Given the description of an element on the screen output the (x, y) to click on. 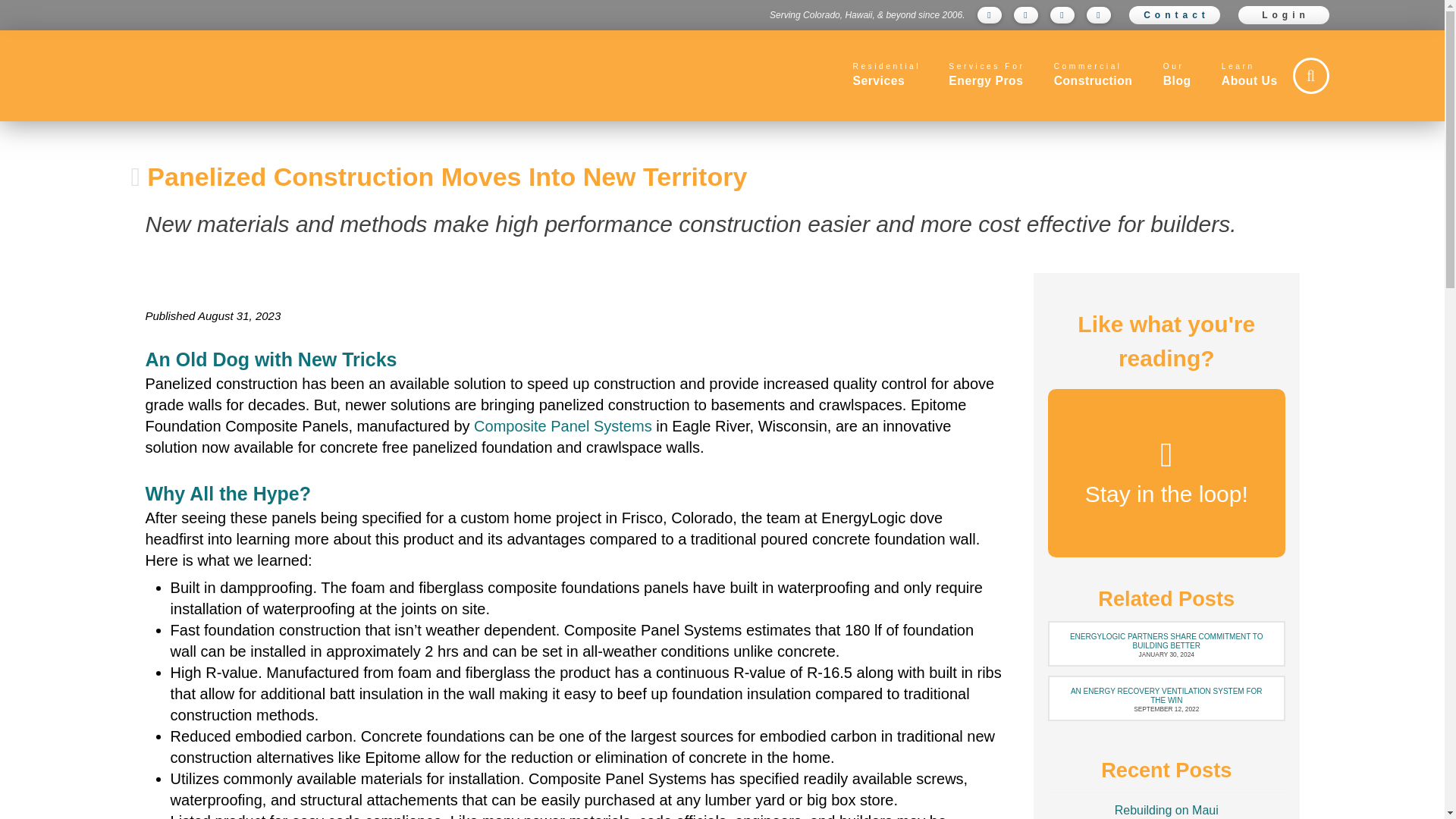
Composite Panel Systems (563, 425)
Login (1282, 14)
ENERGYLOGIC PARTNERS SHARE COMMITMENT TO BUILDING BETTER (1092, 75)
AN ENERGY RECOVERY VENTILATION SYSTEM FOR THE WIN (1166, 641)
Contact (985, 75)
Stay in the loop! (1166, 695)
Rebuilding on Maui (1174, 14)
